Given the description of an element on the screen output the (x, y) to click on. 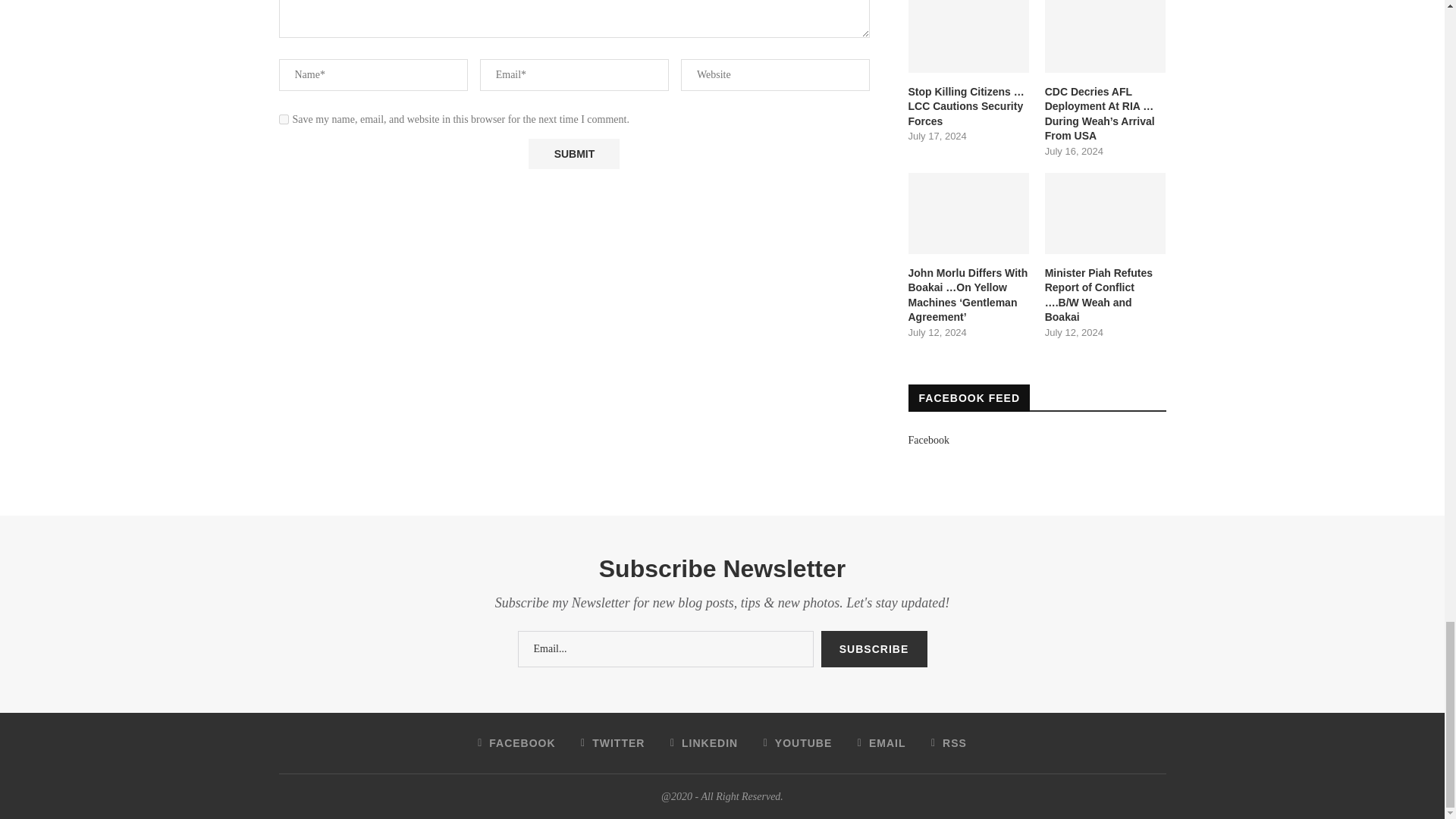
Subscribe (873, 648)
Submit (574, 153)
yes (283, 119)
